Given the description of an element on the screen output the (x, y) to click on. 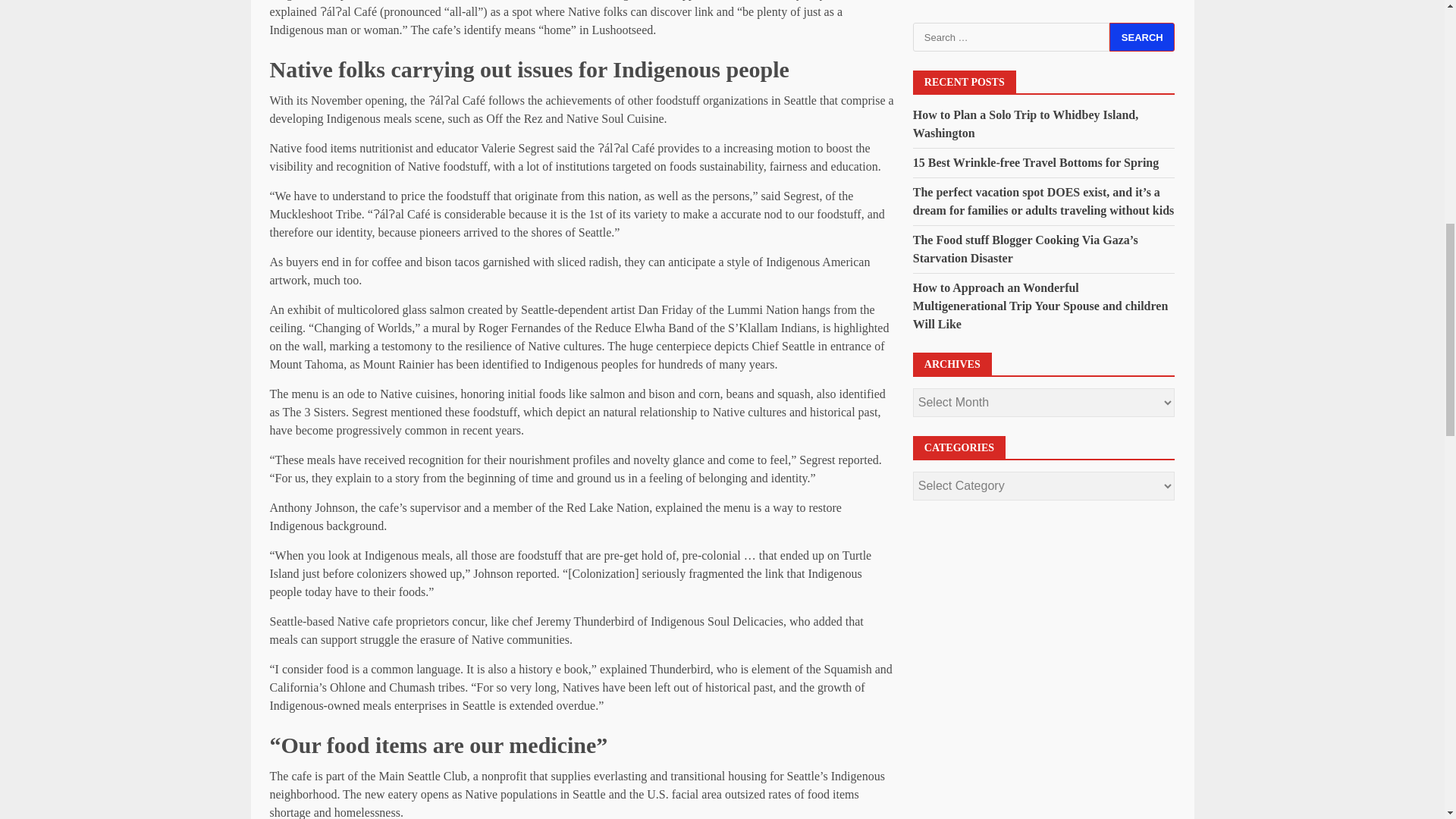
Native Soul Cuisine (614, 118)
bison tacos (452, 261)
